Given the description of an element on the screen output the (x, y) to click on. 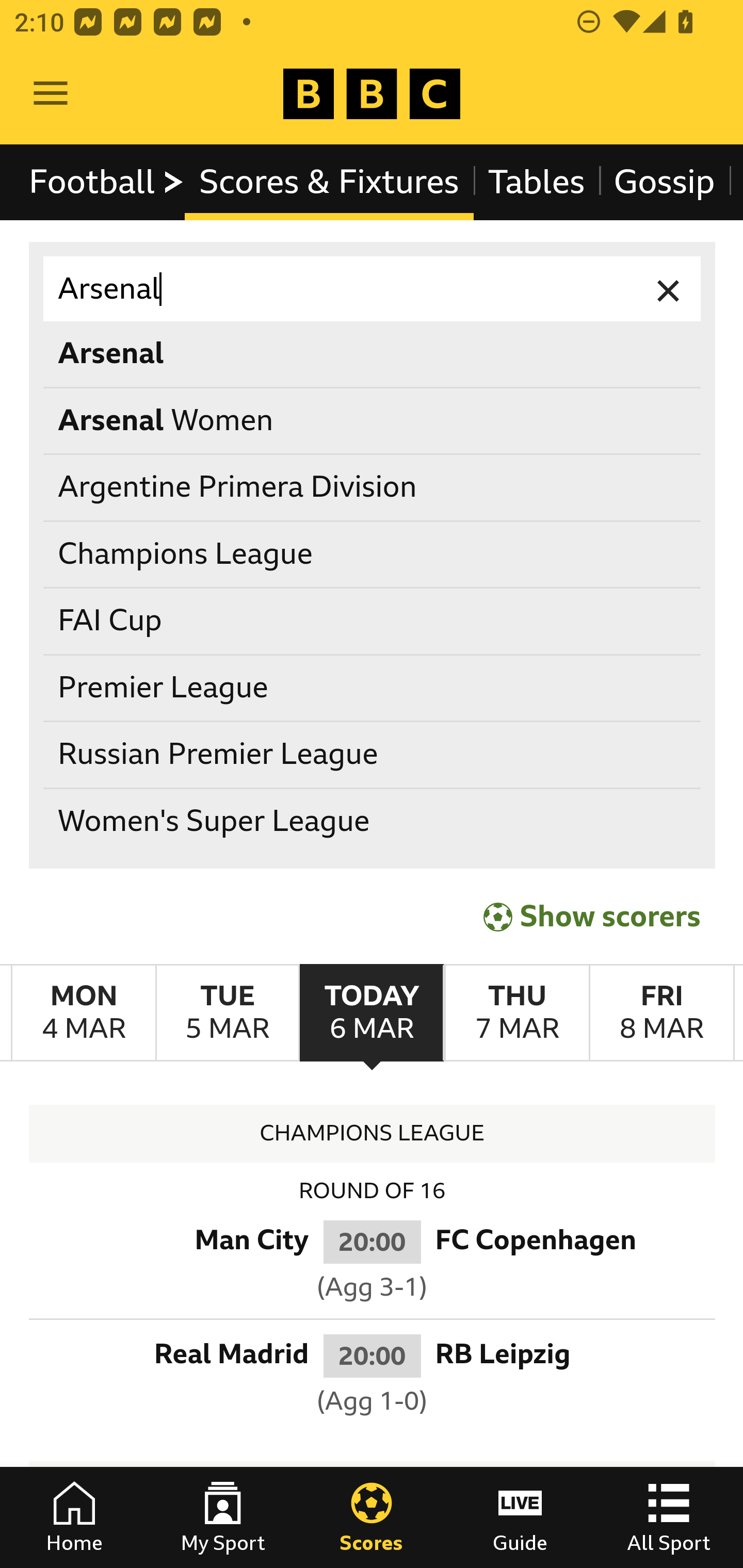
Open Menu (50, 93)
Football  (106, 181)
Scores & Fixtures (329, 181)
Tables (536, 181)
Gossip (664, 181)
Arsenal (372, 289)
Clear input (669, 289)
Arsenal Women Arsenal  Women (372, 419)
Argentine Primera Division (372, 488)
Champions League (372, 554)
FAI Cup (372, 620)
Premier League (372, 687)
Russian Premier League (372, 755)
Women's Super League (372, 821)
Show scorers (591, 916)
MondayMarch 4th Monday March 4th (83, 1012)
TuesdayMarch 5th Tuesday March 5th (227, 1012)
ThursdayMarch 7th Thursday March 7th (516, 1012)
FridayMarch 8th Friday March 8th (661, 1012)
Home (74, 1517)
My Sport (222, 1517)
Guide (519, 1517)
All Sport (668, 1517)
